Given the description of an element on the screen output the (x, y) to click on. 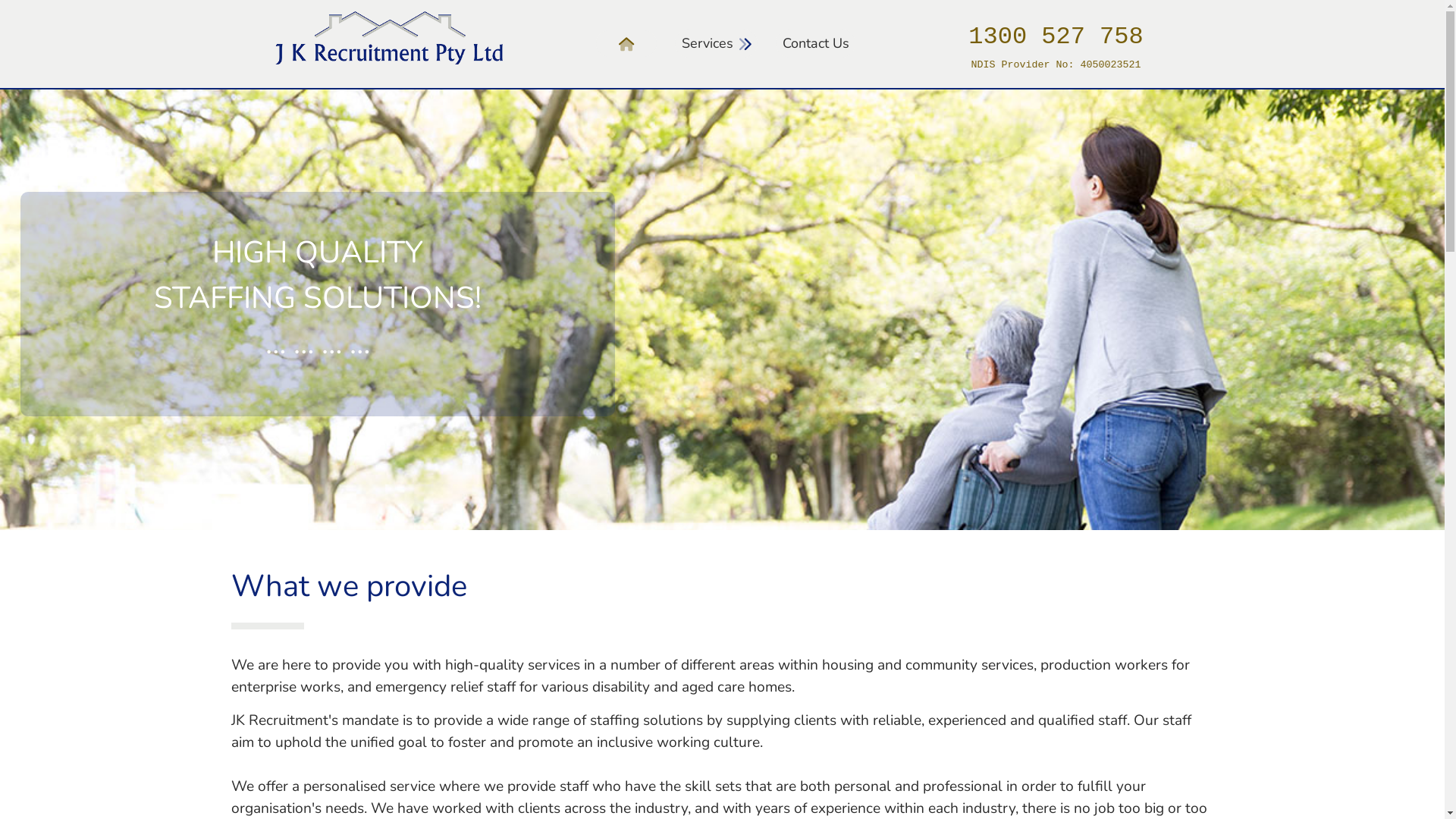
Services Element type: text (715, 43)
Contact Us Element type: text (814, 43)
1300 527 758 Element type: text (1055, 40)
